Given the description of an element on the screen output the (x, y) to click on. 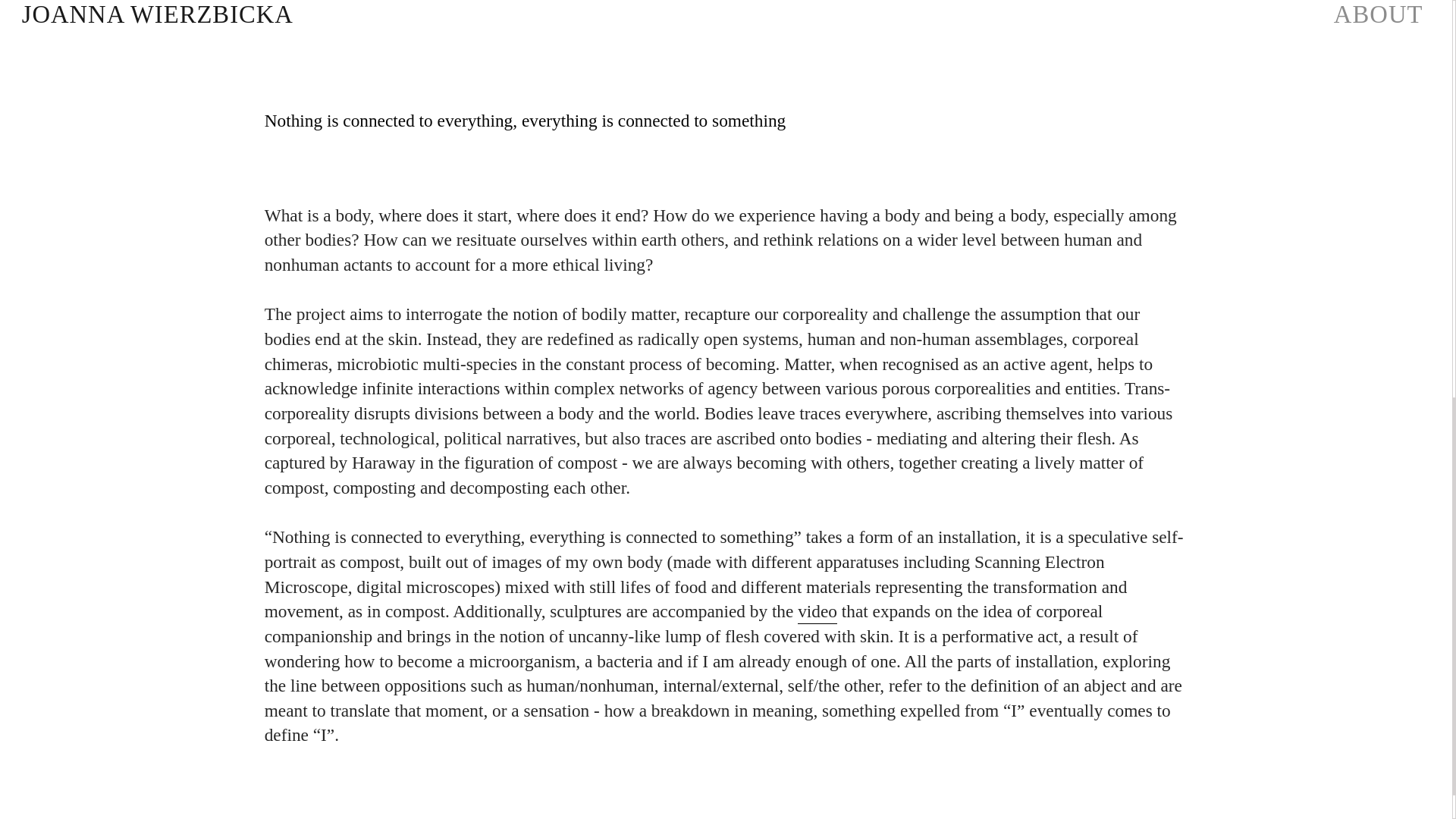
video (817, 612)
